Given the description of an element on the screen output the (x, y) to click on. 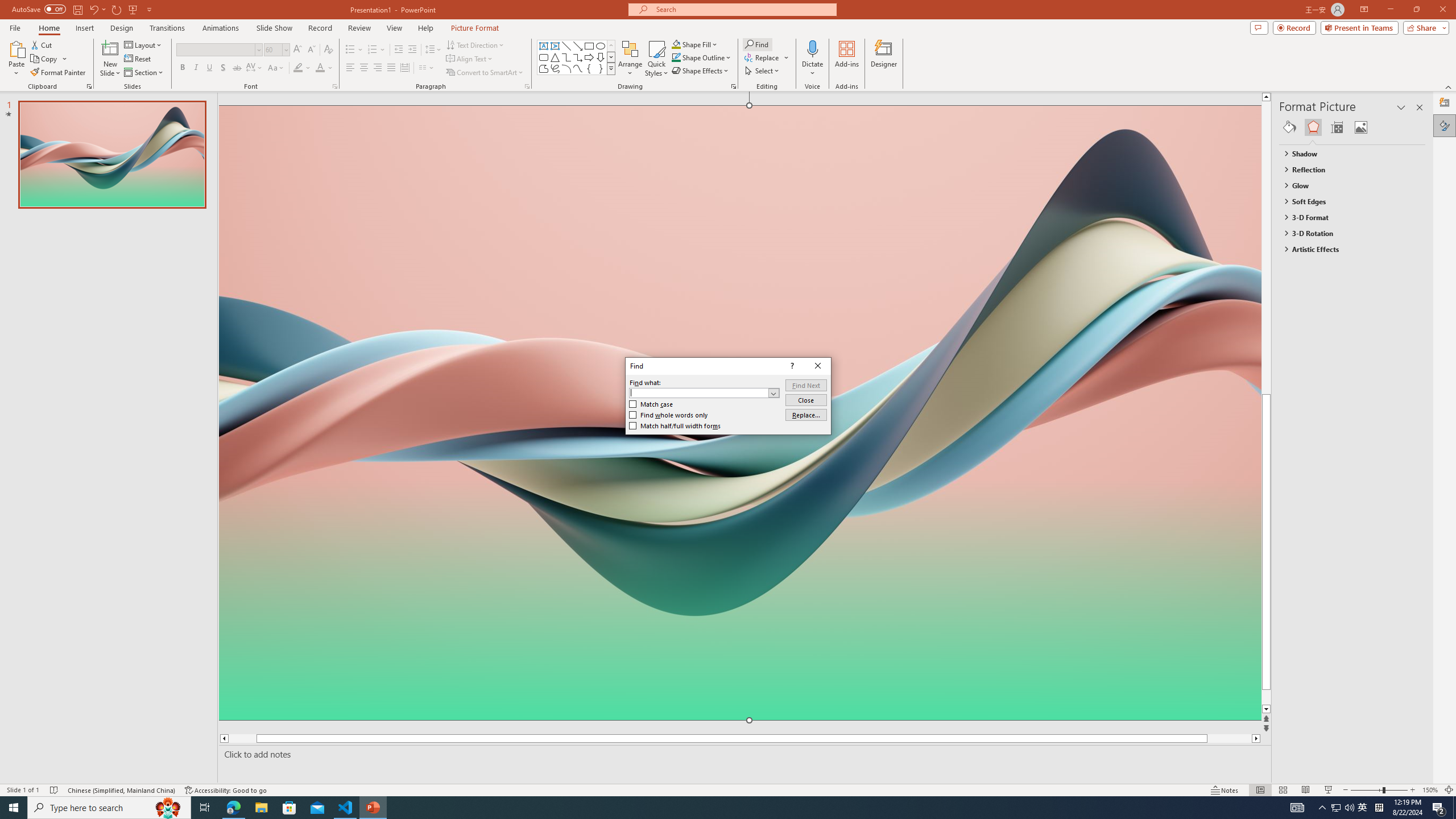
Line Spacing (433, 49)
Align Left (349, 67)
